Given the description of an element on the screen output the (x, y) to click on. 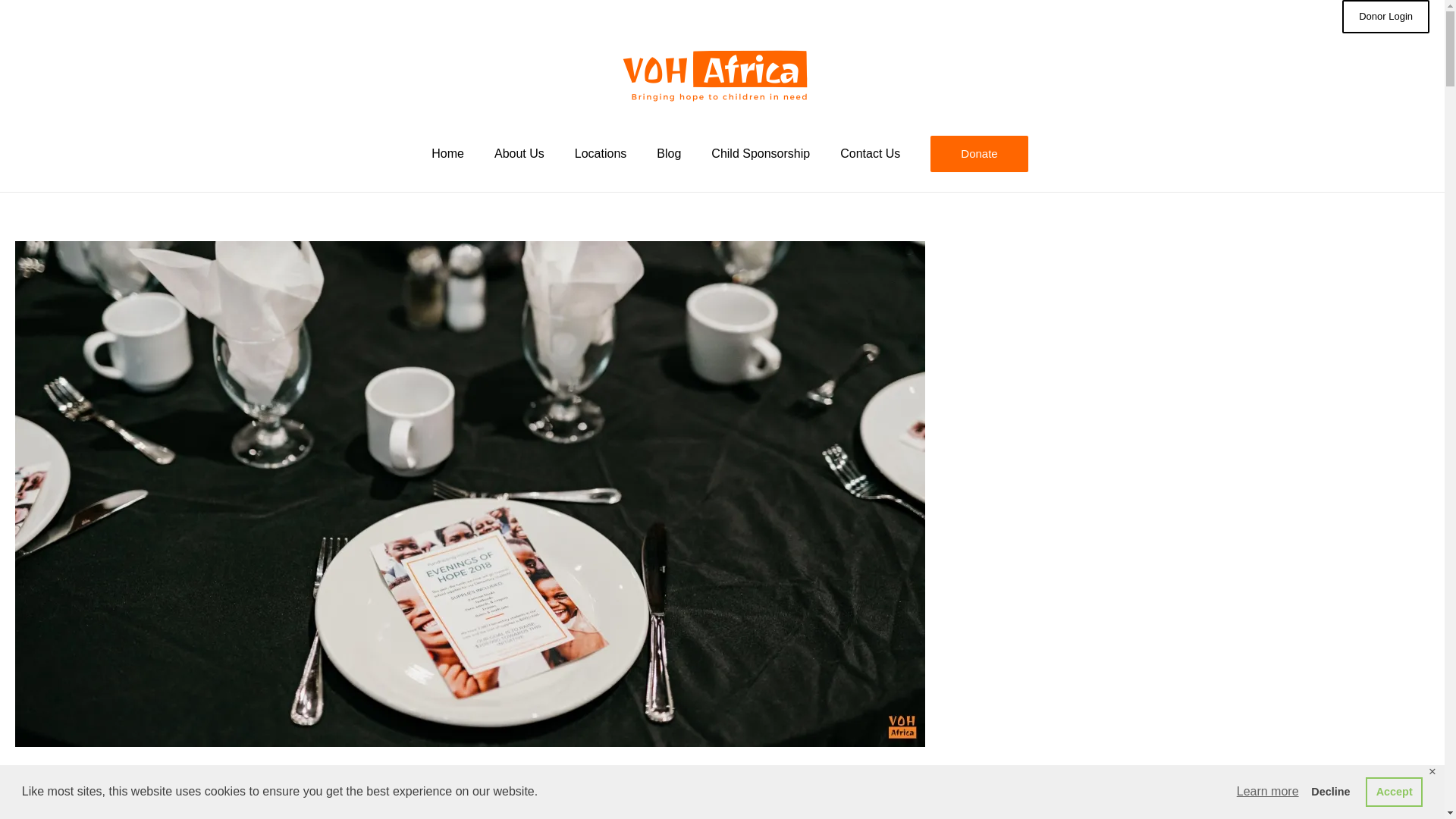
Learn more (1267, 791)
Events (33, 814)
Donor Login (1385, 16)
About Us (519, 153)
Child Sponsorship (760, 153)
Locations (600, 153)
Donate (978, 153)
Contact Us (870, 153)
Decline (1330, 791)
Accept (1393, 791)
